Given the description of an element on the screen output the (x, y) to click on. 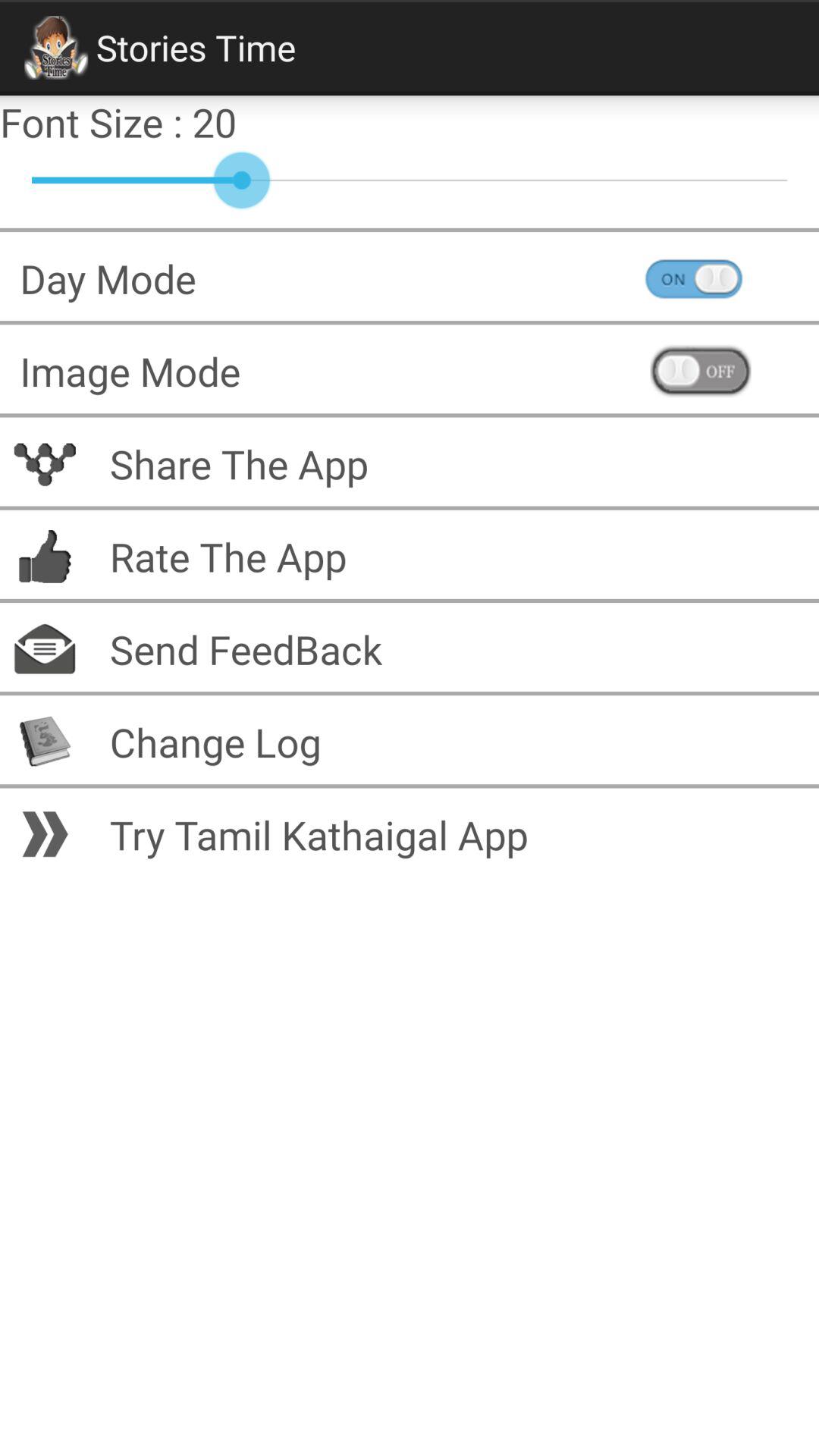
launch try tamil kathaigal icon (454, 834)
